Given the description of an element on the screen output the (x, y) to click on. 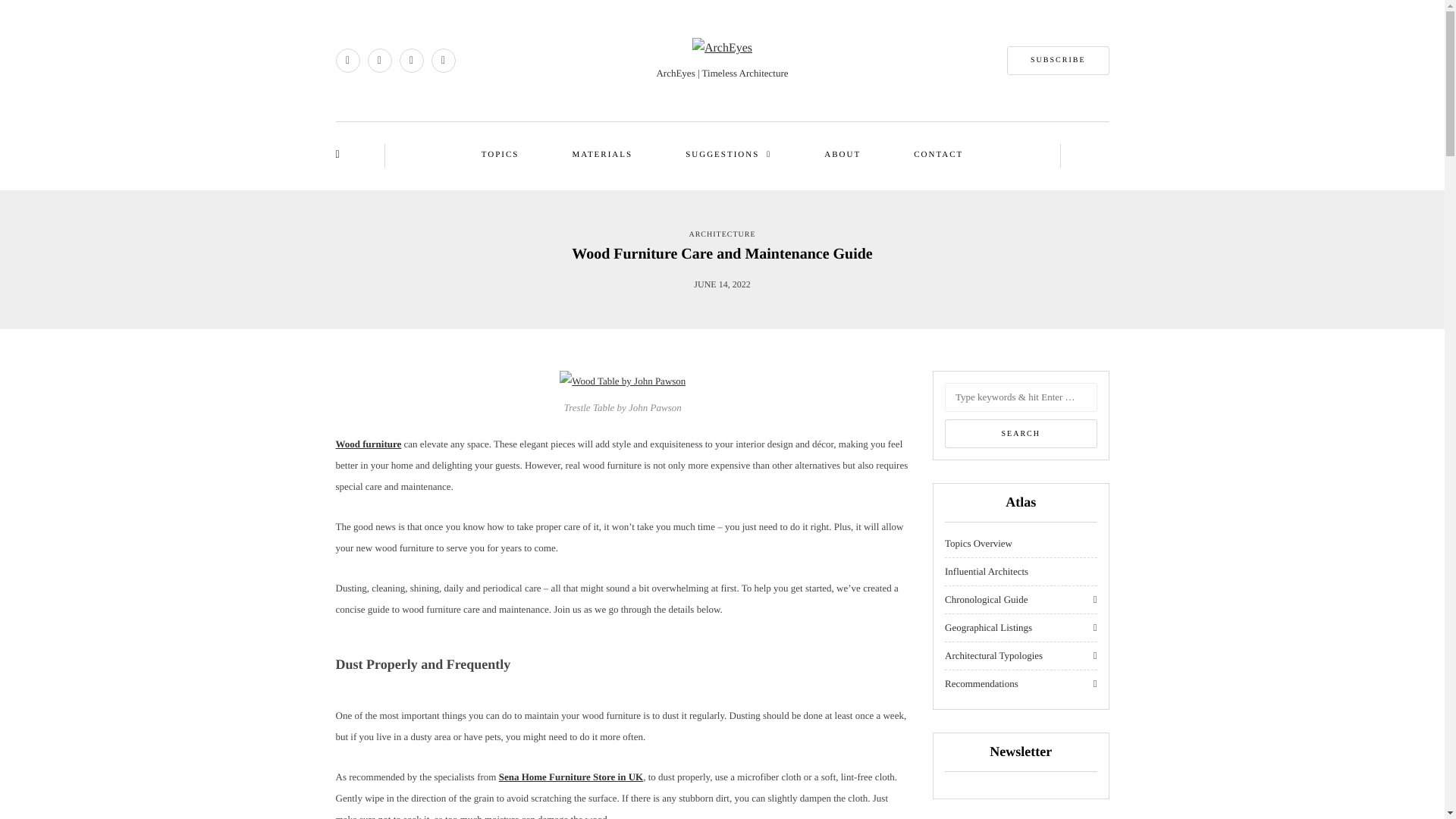
ARCHITECTURE (721, 234)
Wood furniture (367, 443)
Search (1020, 433)
Search (1020, 433)
MATERIALS (601, 155)
SUGGESTIONS (727, 155)
Sena Home Furniture Store in UK (571, 776)
ABOUT (842, 155)
CONTACT (938, 155)
SUBSCRIBE (1057, 60)
TOPICS (499, 155)
